Given the description of an element on the screen output the (x, y) to click on. 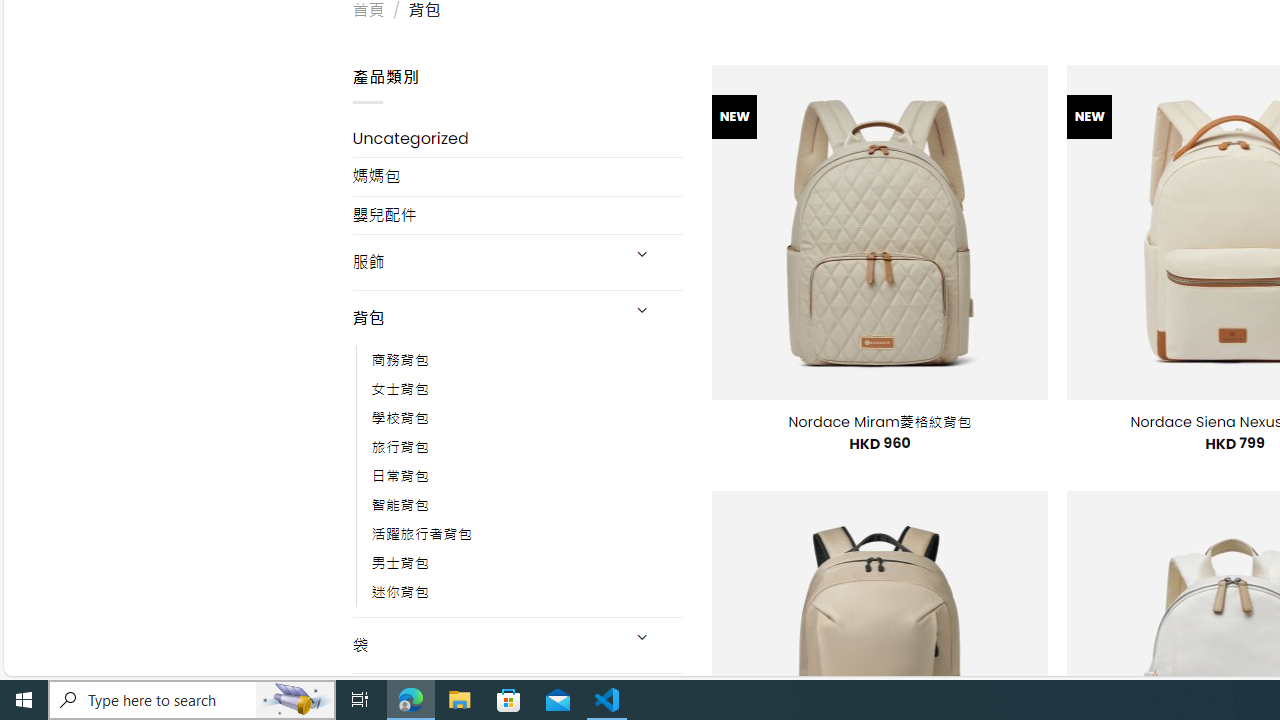
Uncategorized (517, 137)
